Given the description of an element on the screen output the (x, y) to click on. 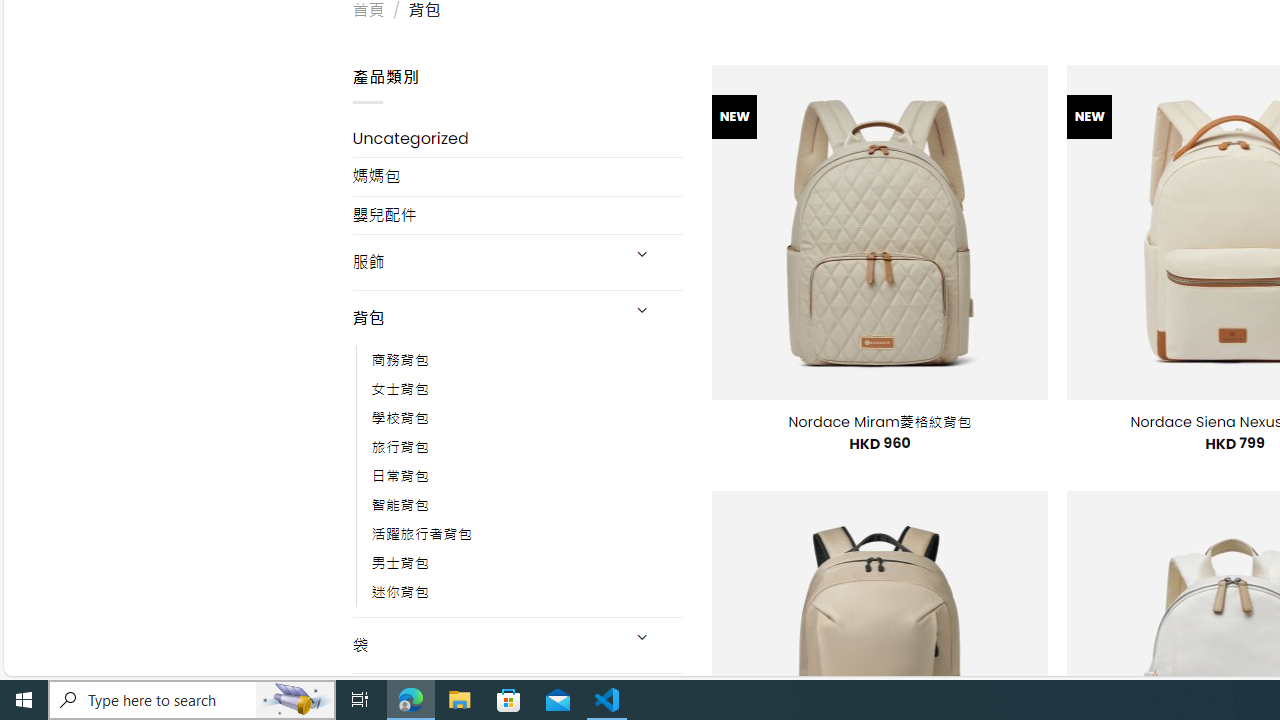
Uncategorized (517, 137)
